Given the description of an element on the screen output the (x, y) to click on. 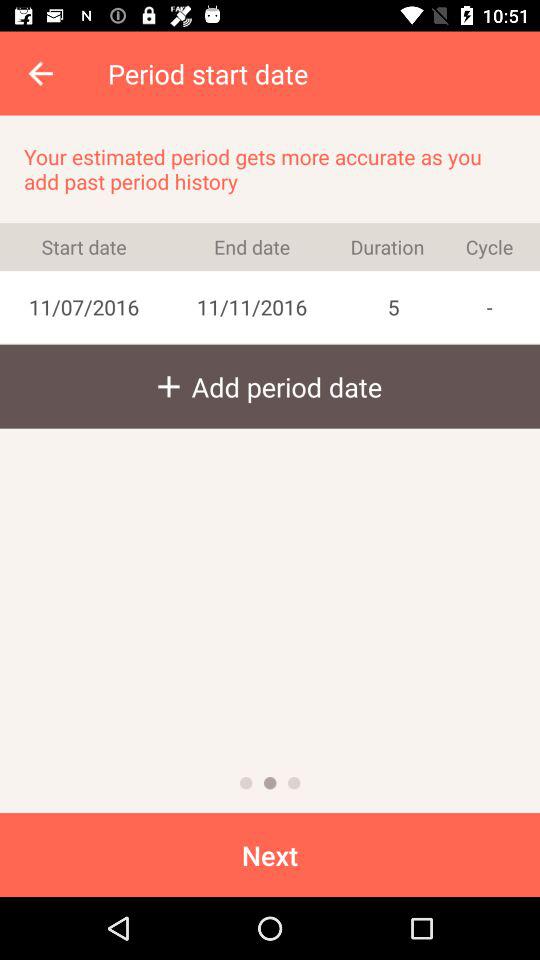
number of launcher pages (294, 783)
